Given the description of an element on the screen output the (x, y) to click on. 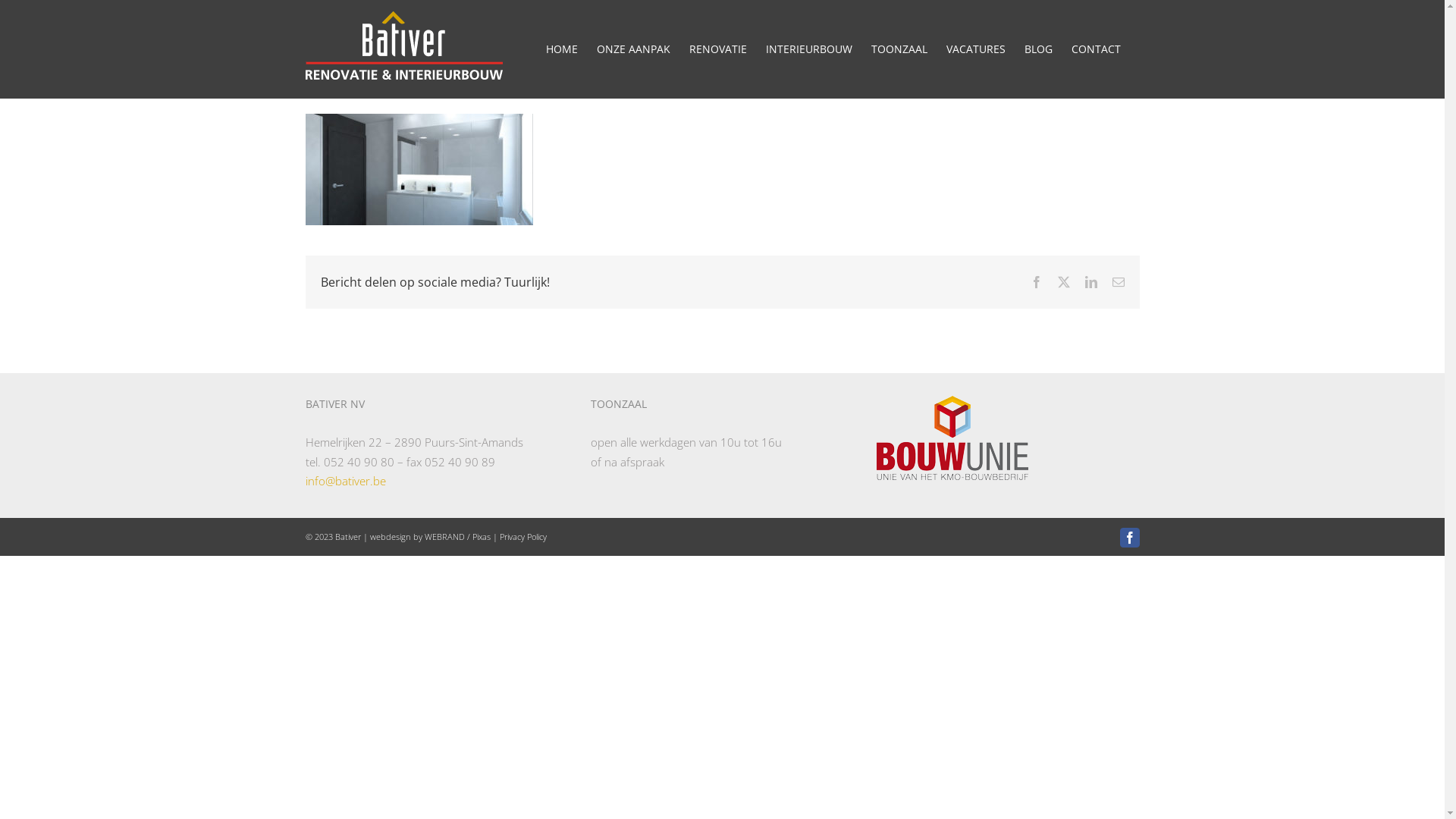
CONTACT Element type: text (1095, 49)
INTERIEURBOUW Element type: text (808, 49)
Privacy Policy Element type: text (522, 536)
info@bativer.be Element type: text (344, 480)
VACATURES Element type: text (975, 49)
Facebook Element type: text (1035, 282)
Twitter Element type: text (1063, 282)
ONZE AANPAK Element type: text (632, 49)
TOONZAAL Element type: text (898, 49)
LinkedIn Element type: text (1090, 282)
HOME Element type: text (561, 49)
BLOG Element type: text (1037, 49)
Facebook Element type: text (1129, 537)
RENOVATIE Element type: text (717, 49)
webdesign by WEBRAND / Pixas Element type: text (430, 536)
E-mail Element type: text (1117, 282)
